Given the description of an element on the screen output the (x, y) to click on. 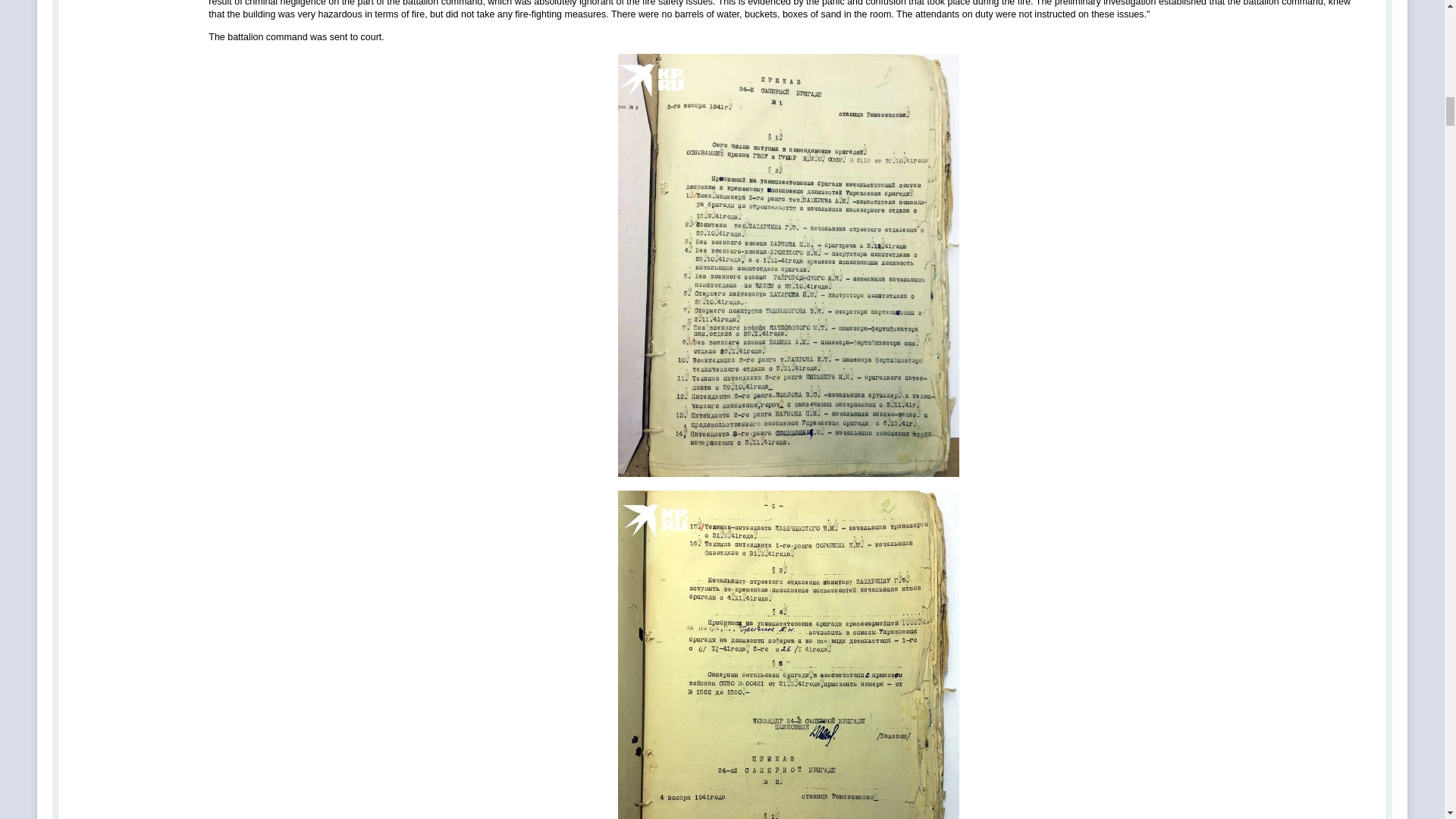
Semyon Zolotaryov documents (788, 654)
